Given the description of an element on the screen output the (x, y) to click on. 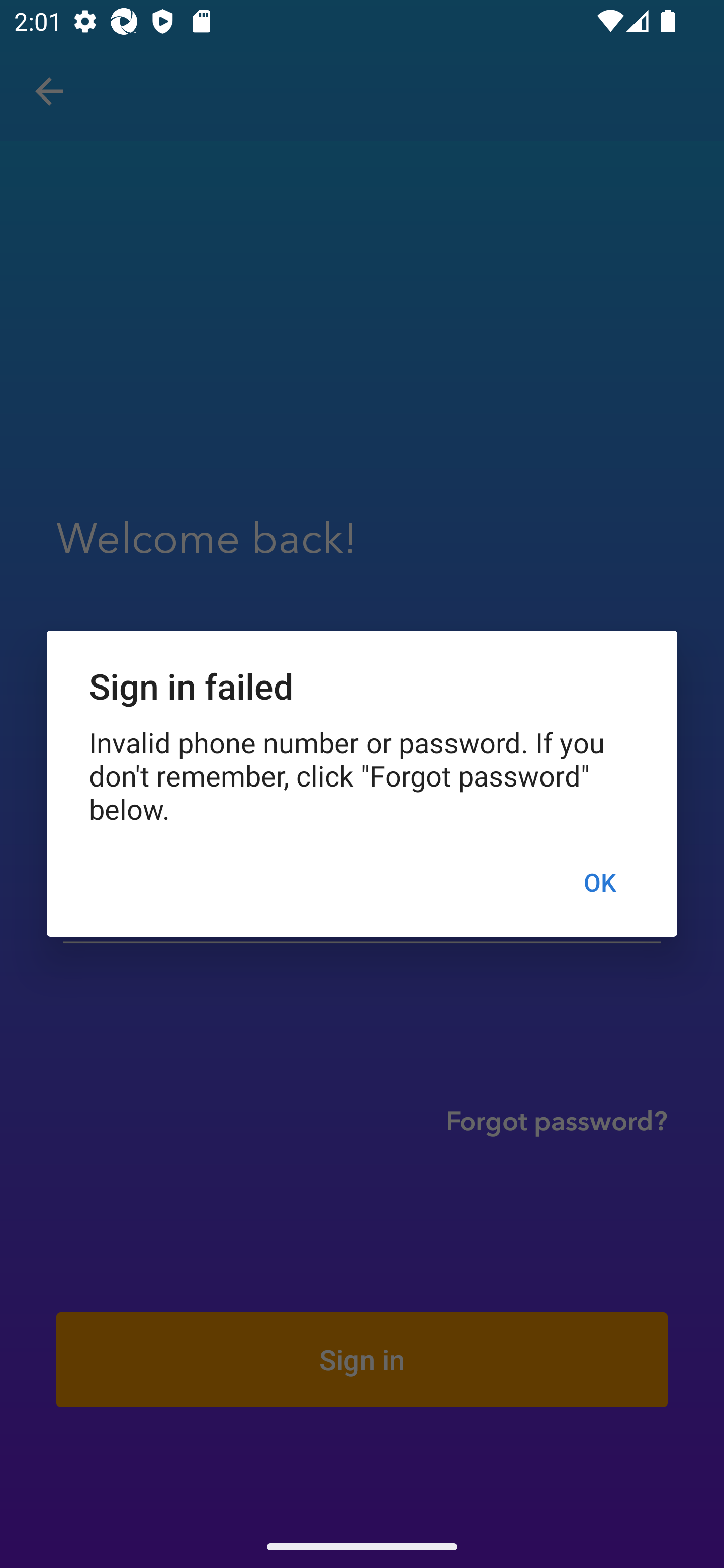
OK (599, 881)
